Given the description of an element on the screen output the (x, y) to click on. 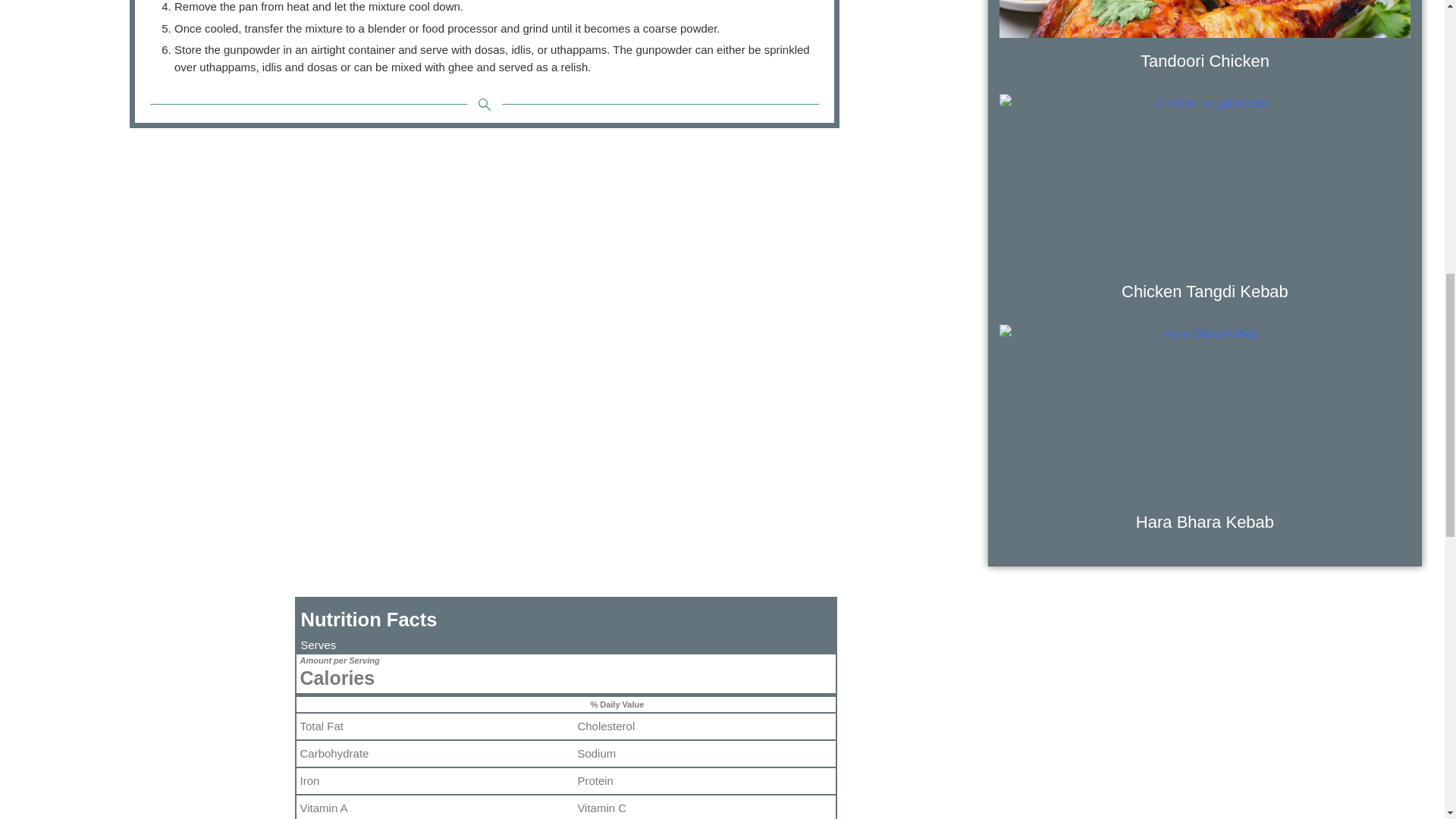
Chicken Tangdi Kebab (1204, 291)
Tandoori Chicken (1204, 60)
Hara Bhara Kebab (1204, 521)
